Given the description of an element on the screen output the (x, y) to click on. 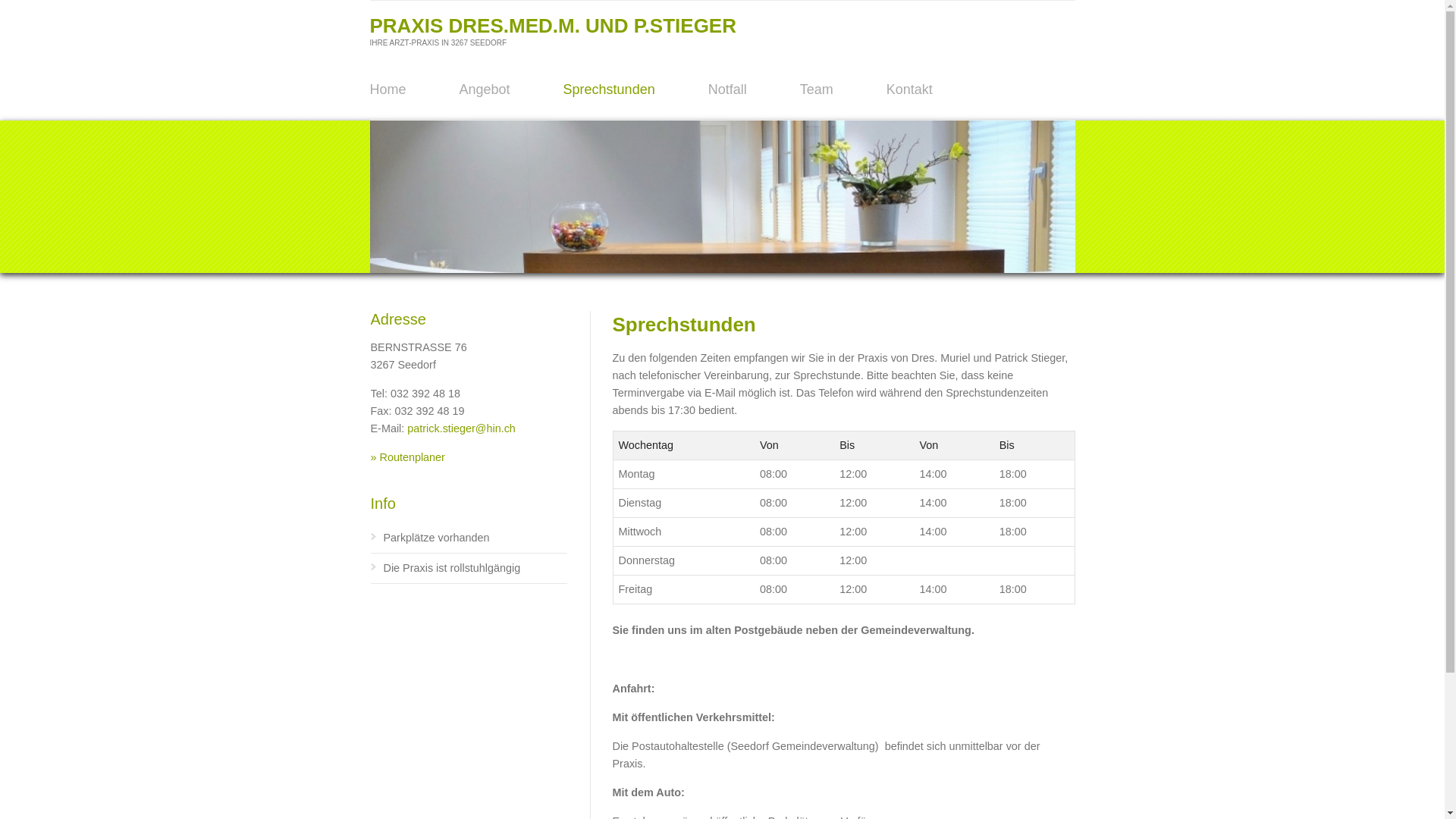
Sprechstunden Element type: text (609, 89)
Notfall Element type: text (727, 89)
patrick.stieger@hin.ch Element type: text (461, 428)
PRAXIS DRES.MED.M. UND P.STIEGER Element type: text (553, 25)
Angebot Element type: text (484, 89)
Kontakt Element type: text (909, 89)
Home Element type: text (388, 89)
Team Element type: text (816, 89)
